Given the description of an element on the screen output the (x, y) to click on. 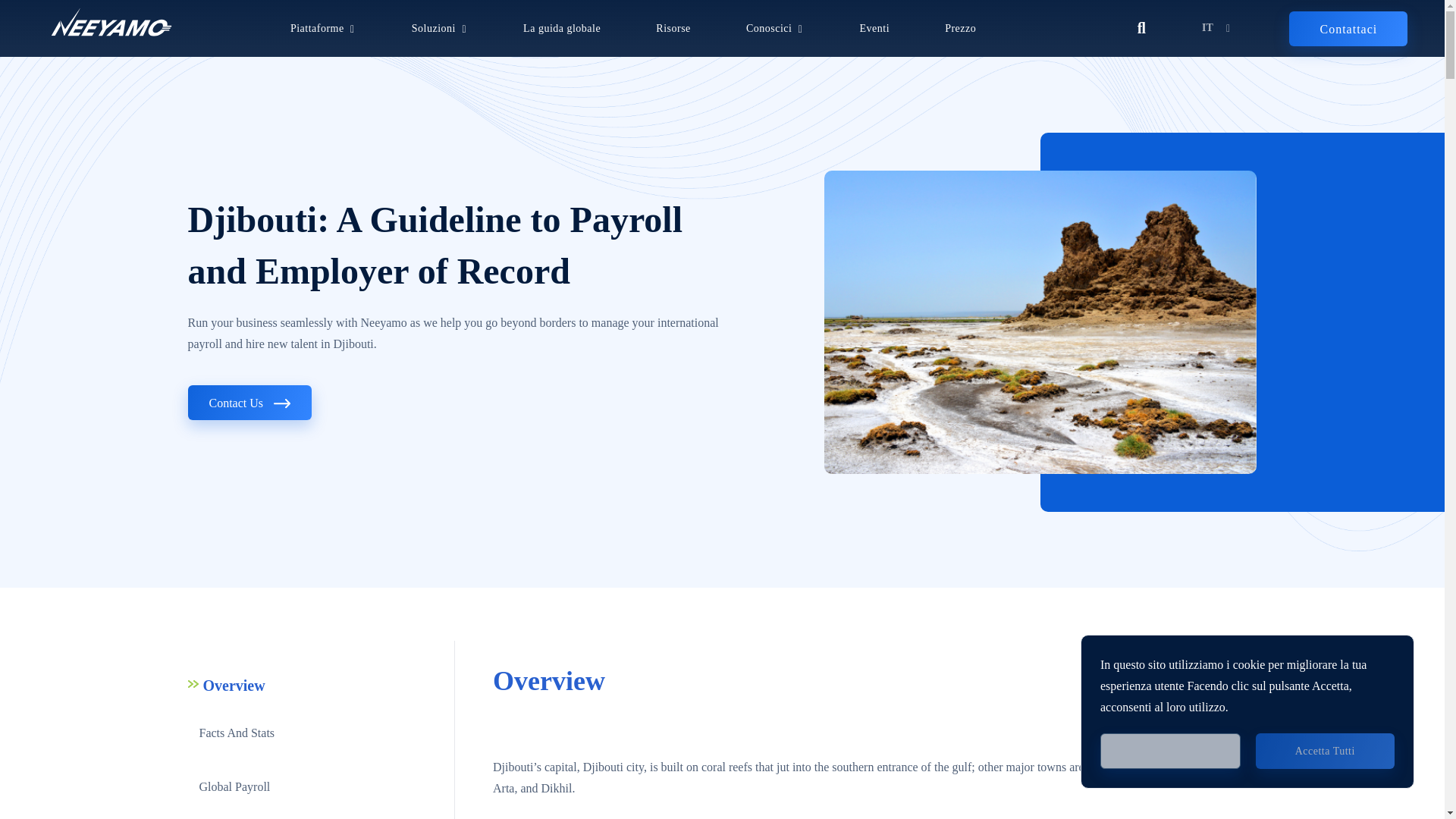
Neeyamo (111, 22)
Piattaforme (316, 28)
Impostazioni Cookie (1170, 751)
Accetta Tutti (1324, 751)
Salta al contenuto principale (721, 1)
